Given the description of an element on the screen output the (x, y) to click on. 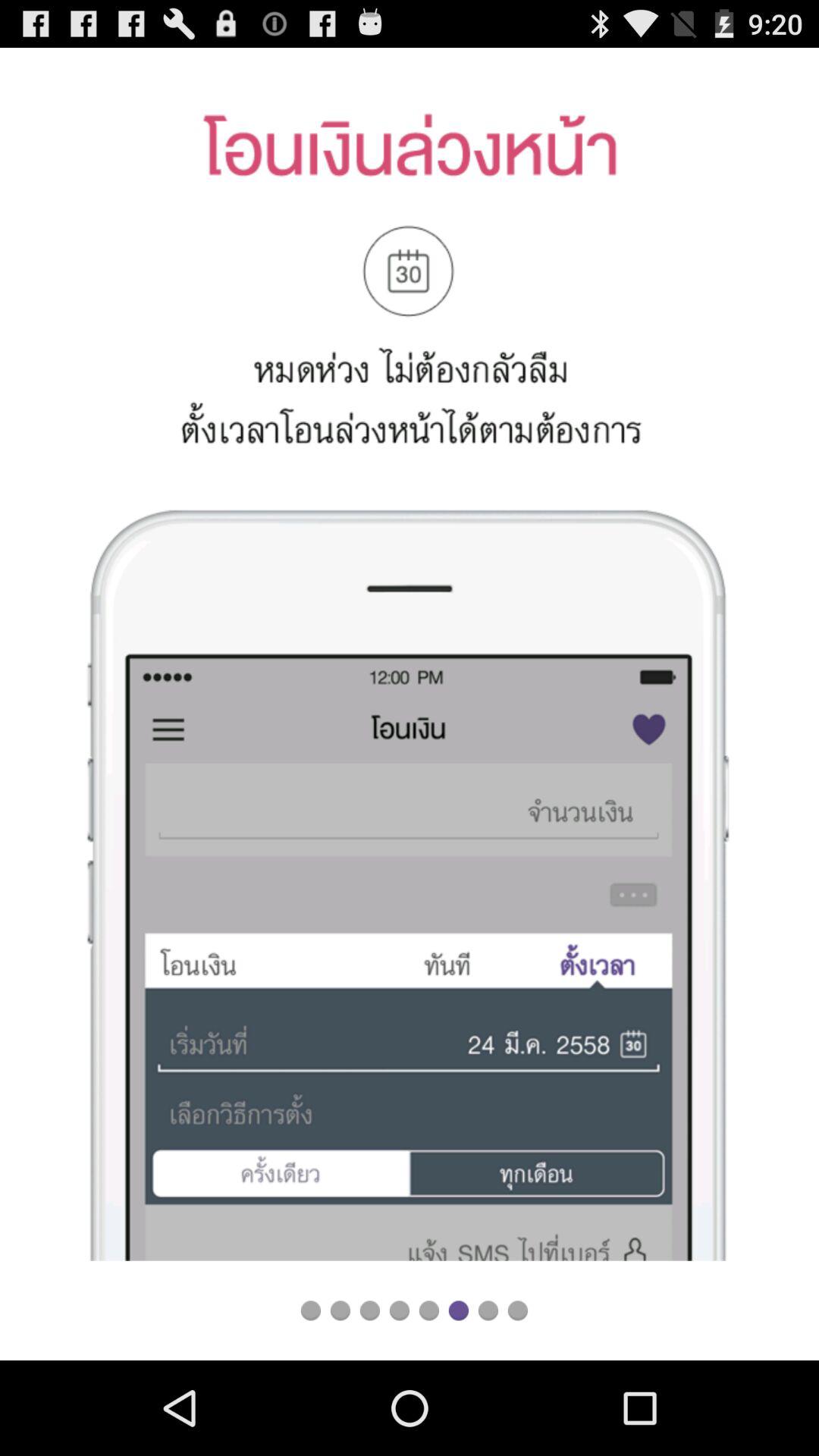
next page (488, 1310)
